Given the description of an element on the screen output the (x, y) to click on. 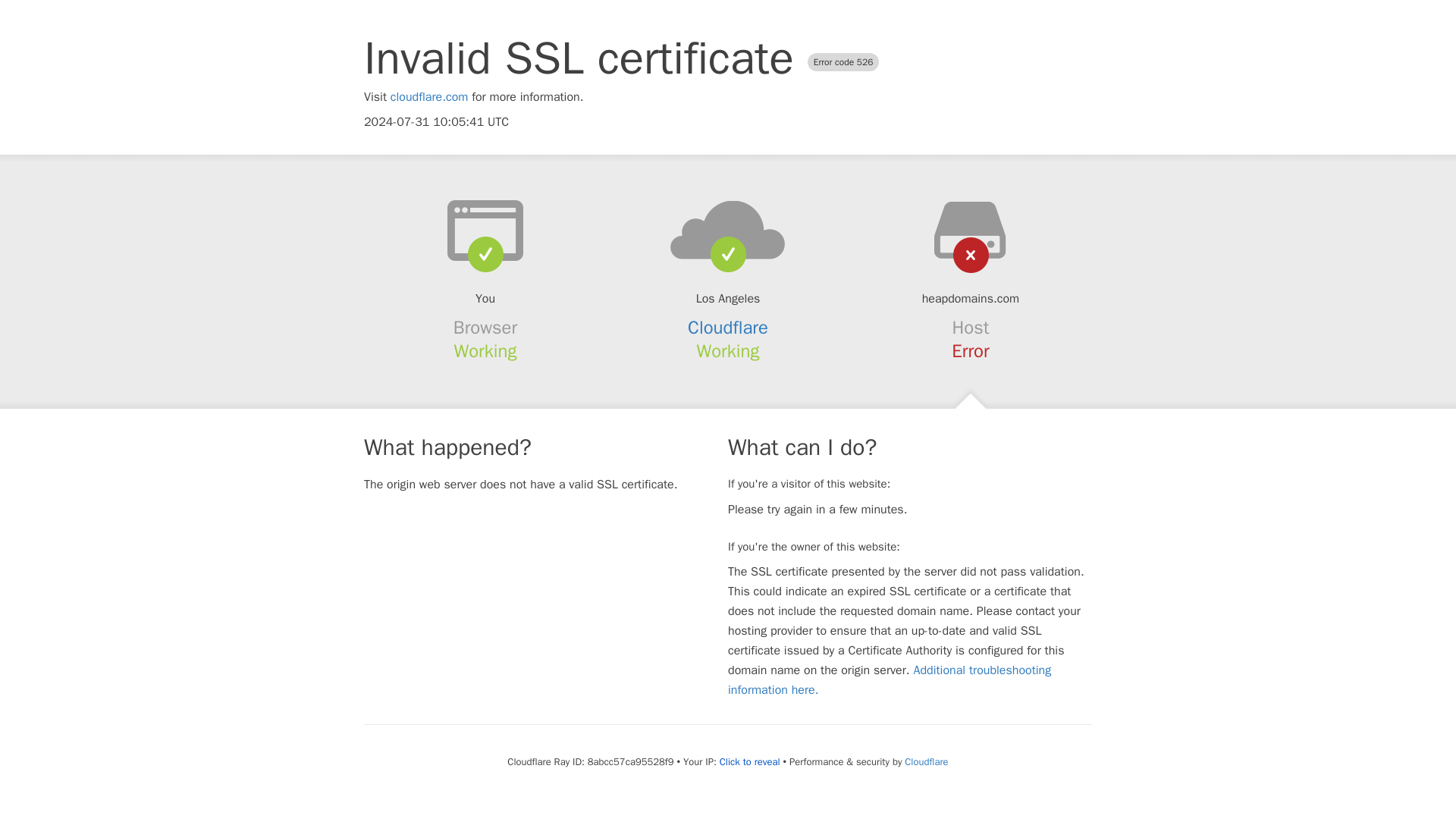
Additional troubleshooting information here. (889, 679)
Cloudflare (727, 327)
Click to reveal (749, 762)
cloudflare.com (429, 96)
Cloudflare (925, 761)
